Given the description of an element on the screen output the (x, y) to click on. 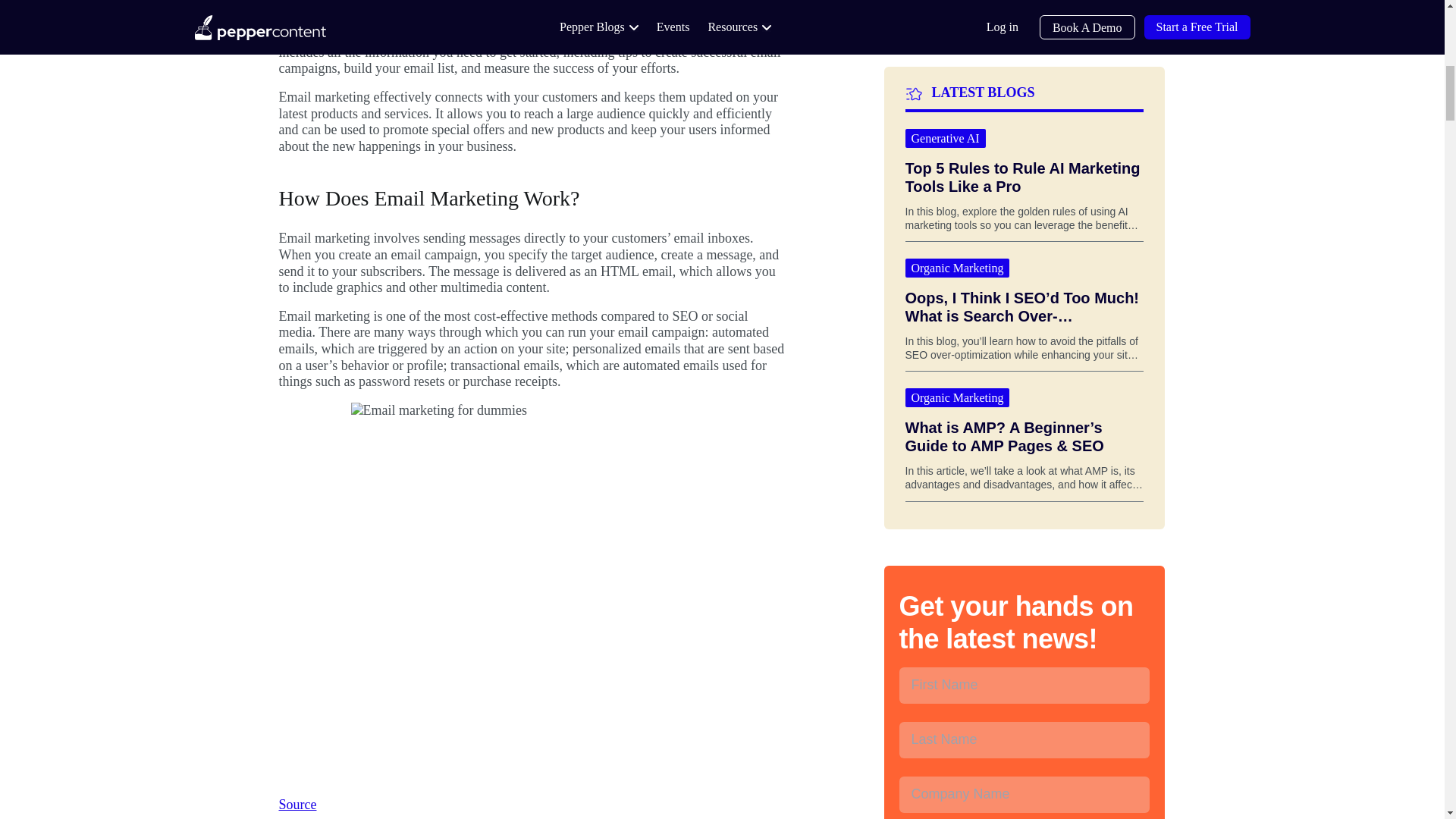
Source (298, 804)
